Given the description of an element on the screen output the (x, y) to click on. 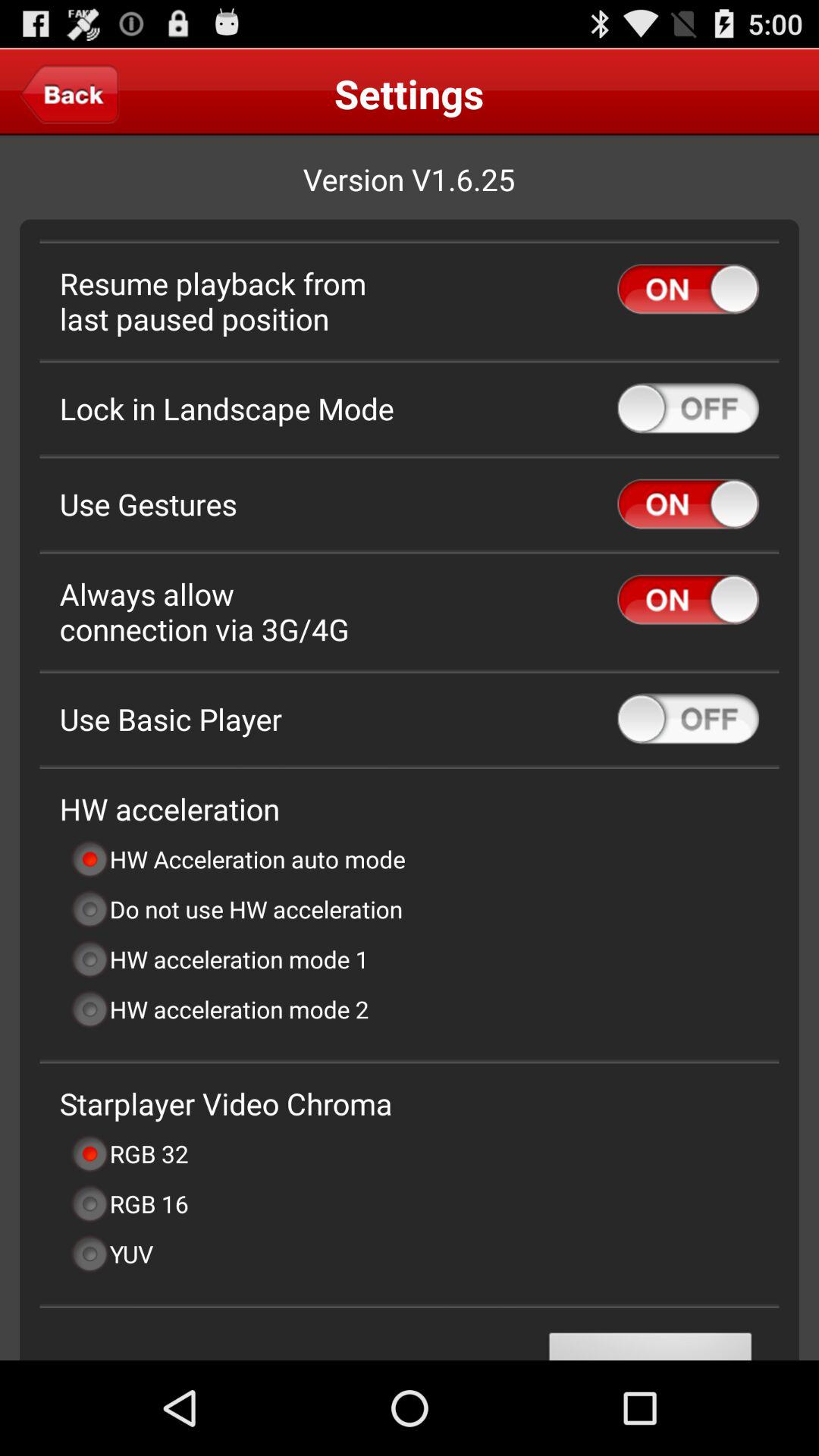
toggle basic player option (688, 719)
